Given the description of an element on the screen output the (x, y) to click on. 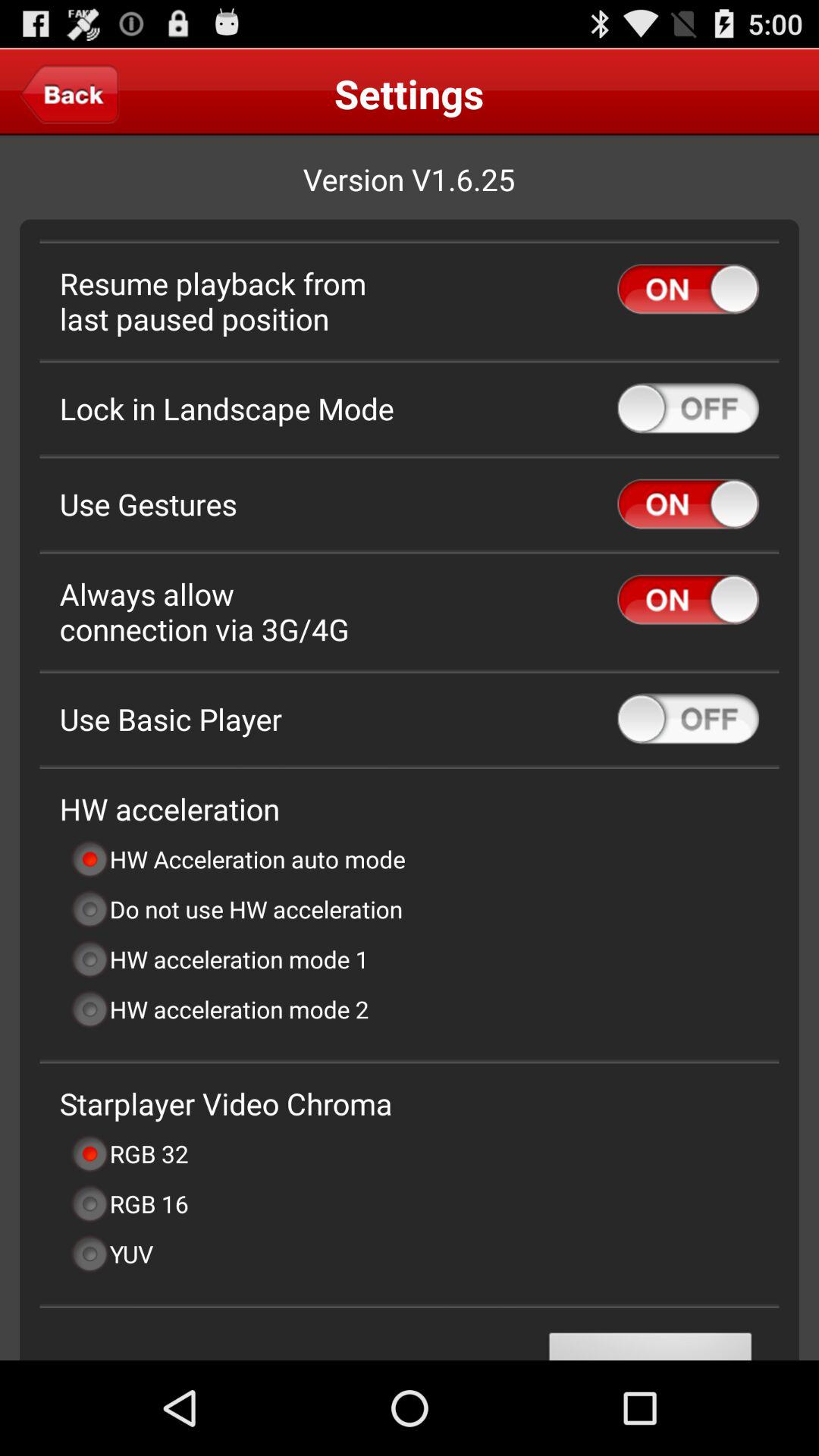
toggle basic player option (688, 719)
